Given the description of an element on the screen output the (x, y) to click on. 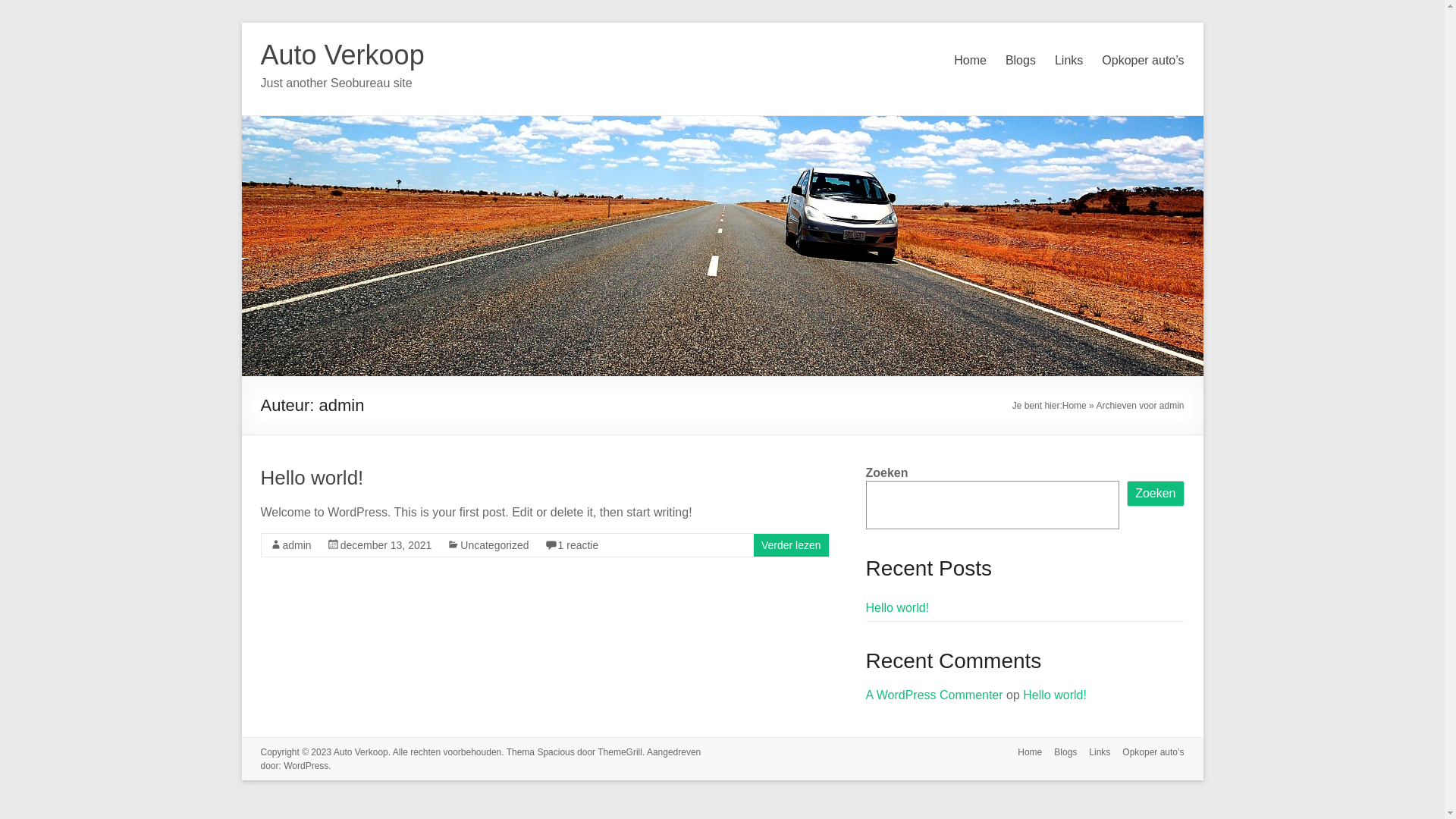
Links Element type: text (1093, 753)
Blogs Element type: text (1058, 753)
A WordPress Commenter Element type: text (934, 694)
1 reactie Element type: text (578, 545)
admin Element type: text (296, 545)
Home Element type: text (1074, 405)
Hello world! Element type: text (312, 477)
Verder lezen Element type: text (791, 545)
Uncategorized Element type: text (494, 545)
Hello world! Element type: text (897, 607)
Links Element type: text (1068, 60)
Auto Verkoop Element type: text (342, 54)
Home Element type: text (1023, 753)
Ga naar inhoud Element type: text (241, 21)
Zoeken Element type: text (1154, 493)
Blogs Element type: text (1020, 60)
december 13, 2021 Element type: text (386, 545)
Spacious Element type: text (555, 751)
Hello world! Element type: text (1054, 694)
WordPress Element type: text (305, 765)
Auto Verkoop Element type: text (360, 751)
Home Element type: text (969, 60)
